Given the description of an element on the screen output the (x, y) to click on. 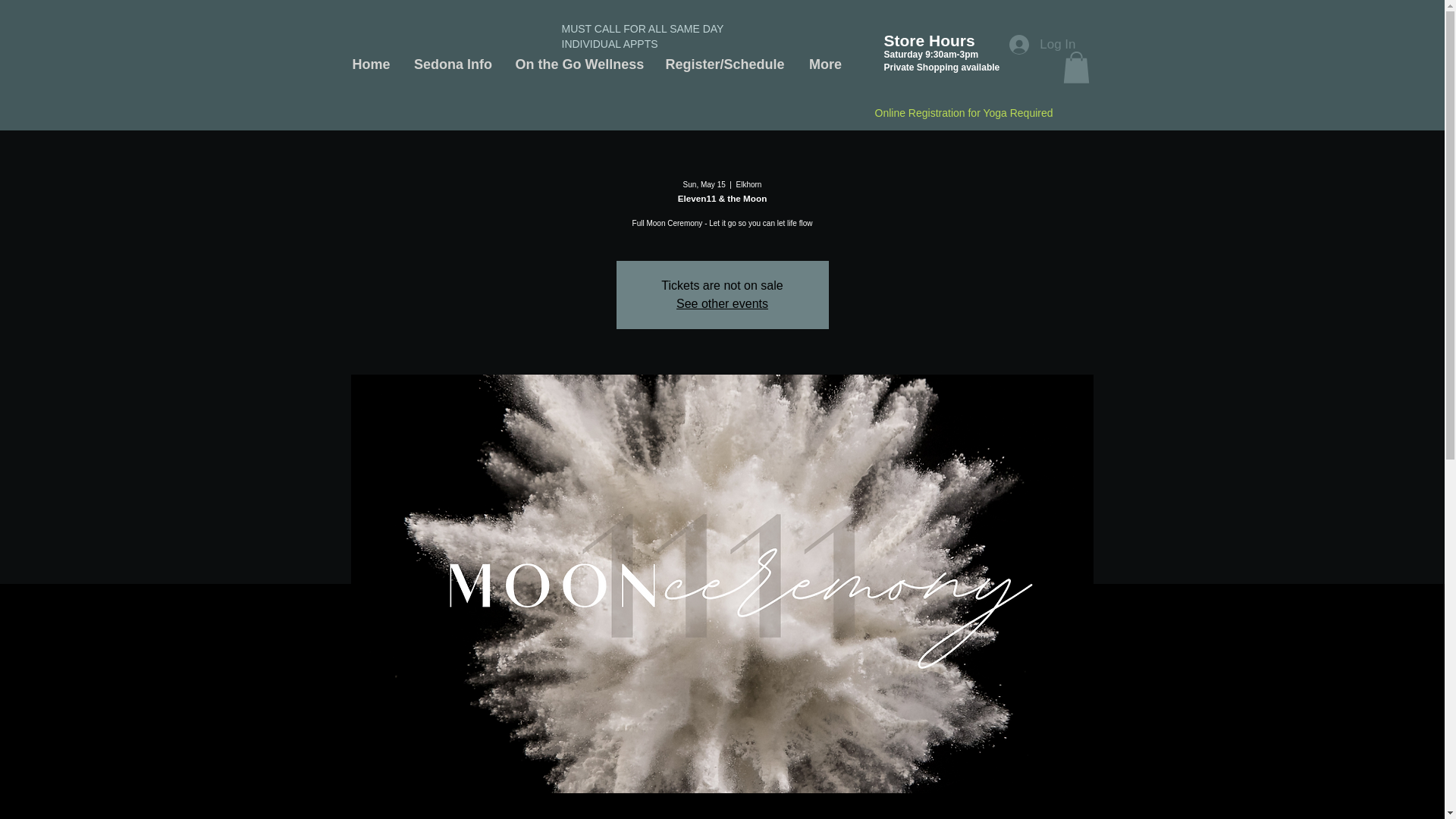
Sedona Info (452, 64)
See other events (722, 303)
On the Go Wellness (577, 64)
Log In (1042, 44)
